Given the description of an element on the screen output the (x, y) to click on. 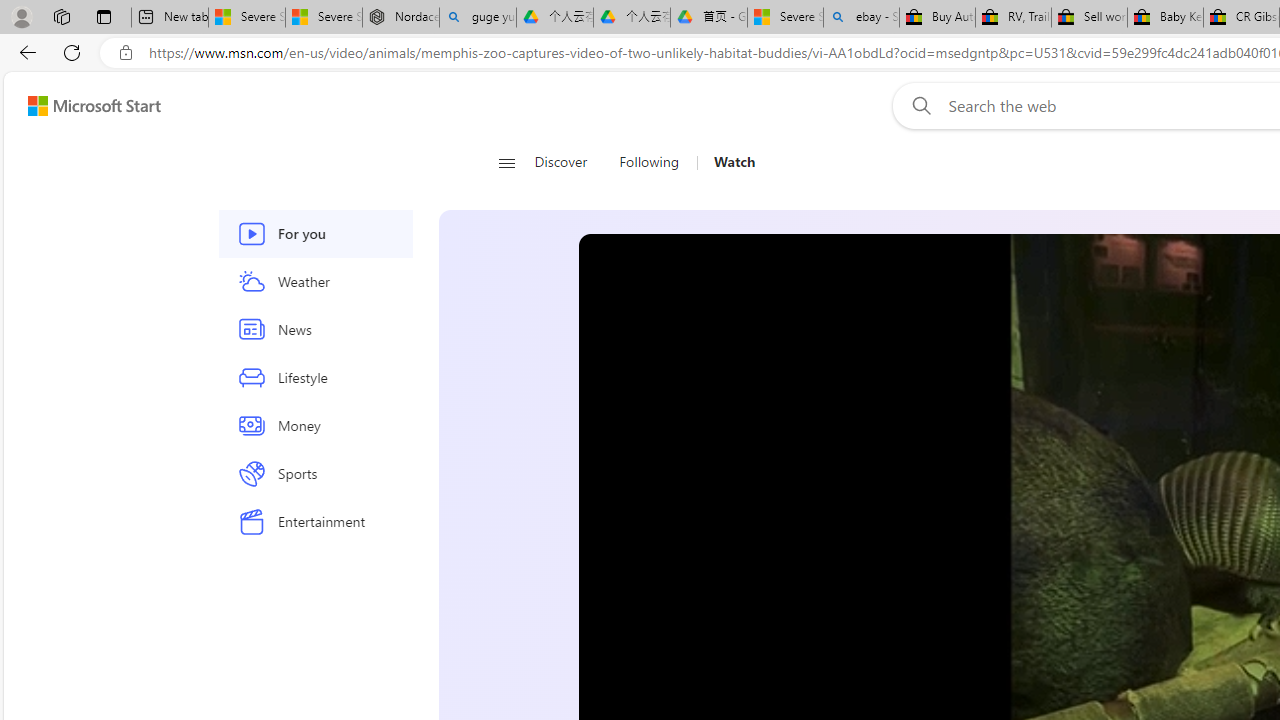
guge yunpan - Search (477, 17)
Baby Keepsakes & Announcements for sale | eBay (1165, 17)
RV, Trailer & Camper Steps & Ladders for sale | eBay (1012, 17)
Skip to footer (82, 105)
Class: button-glyph (505, 162)
ebay - Search (861, 17)
Buy Auto Parts & Accessories | eBay (937, 17)
Watch (734, 162)
